Given the description of an element on the screen output the (x, y) to click on. 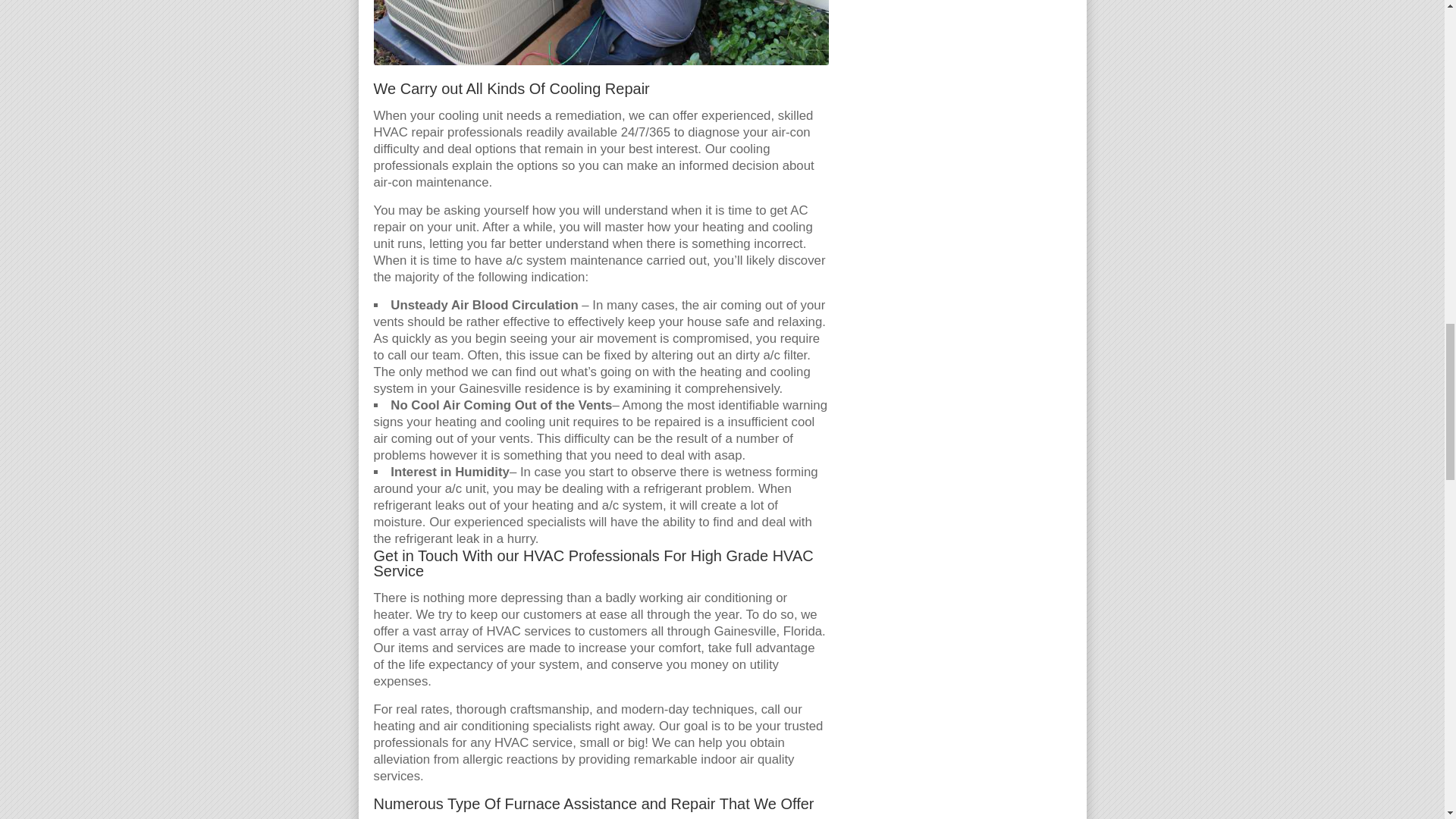
HVAC Repair Gainesville FL (600, 32)
